Given the description of an element on the screen output the (x, y) to click on. 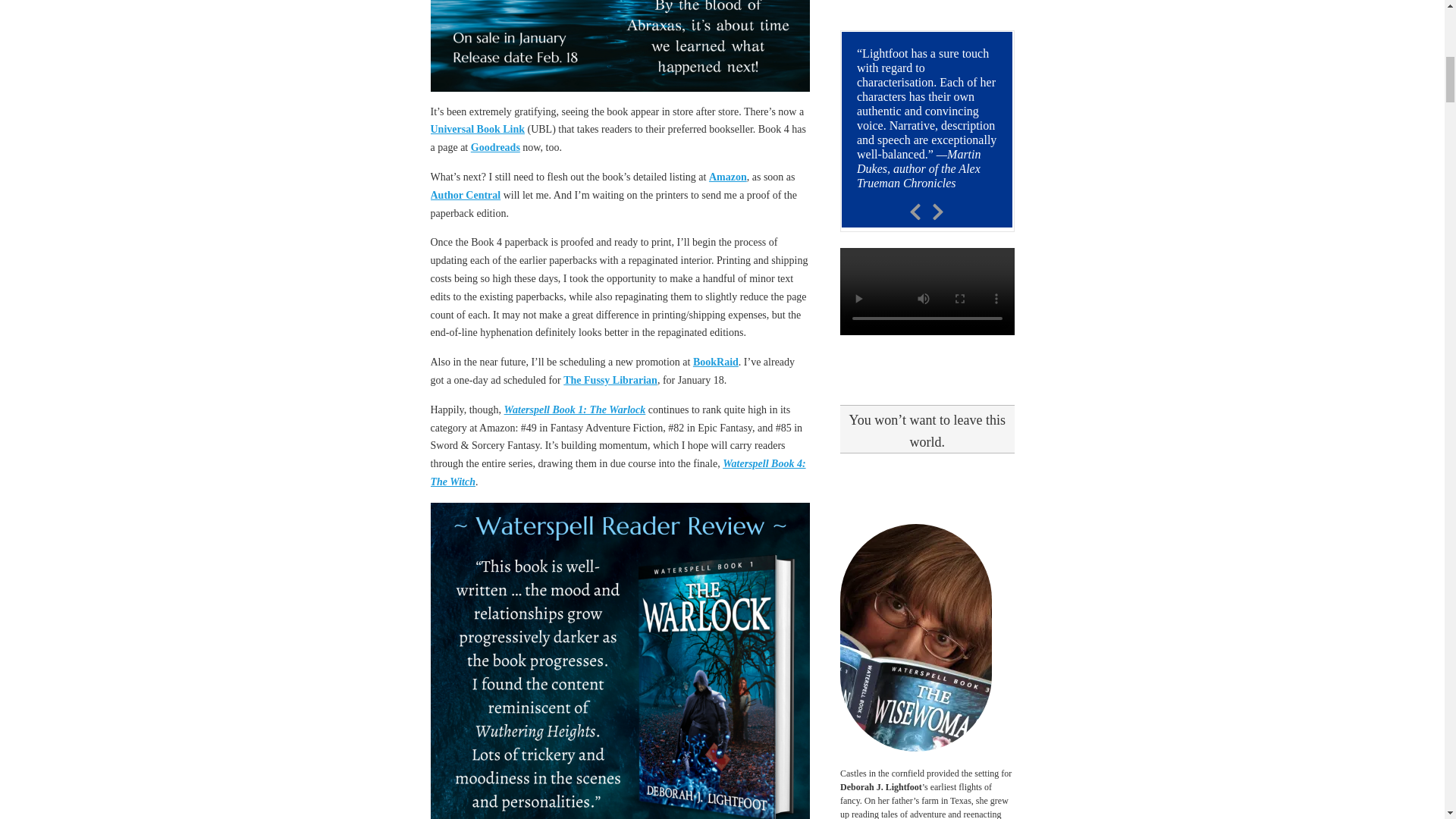
Author Central (465, 194)
The Fussy Librarian (610, 379)
Goodreads (494, 147)
BookRaid (715, 361)
Amazon (727, 176)
Follow Button (927, 5)
Waterspell Book 1: The Warlock (574, 409)
Universal Book Link (477, 129)
Waterspell Book 4: The Witch (618, 472)
